Given the description of an element on the screen output the (x, y) to click on. 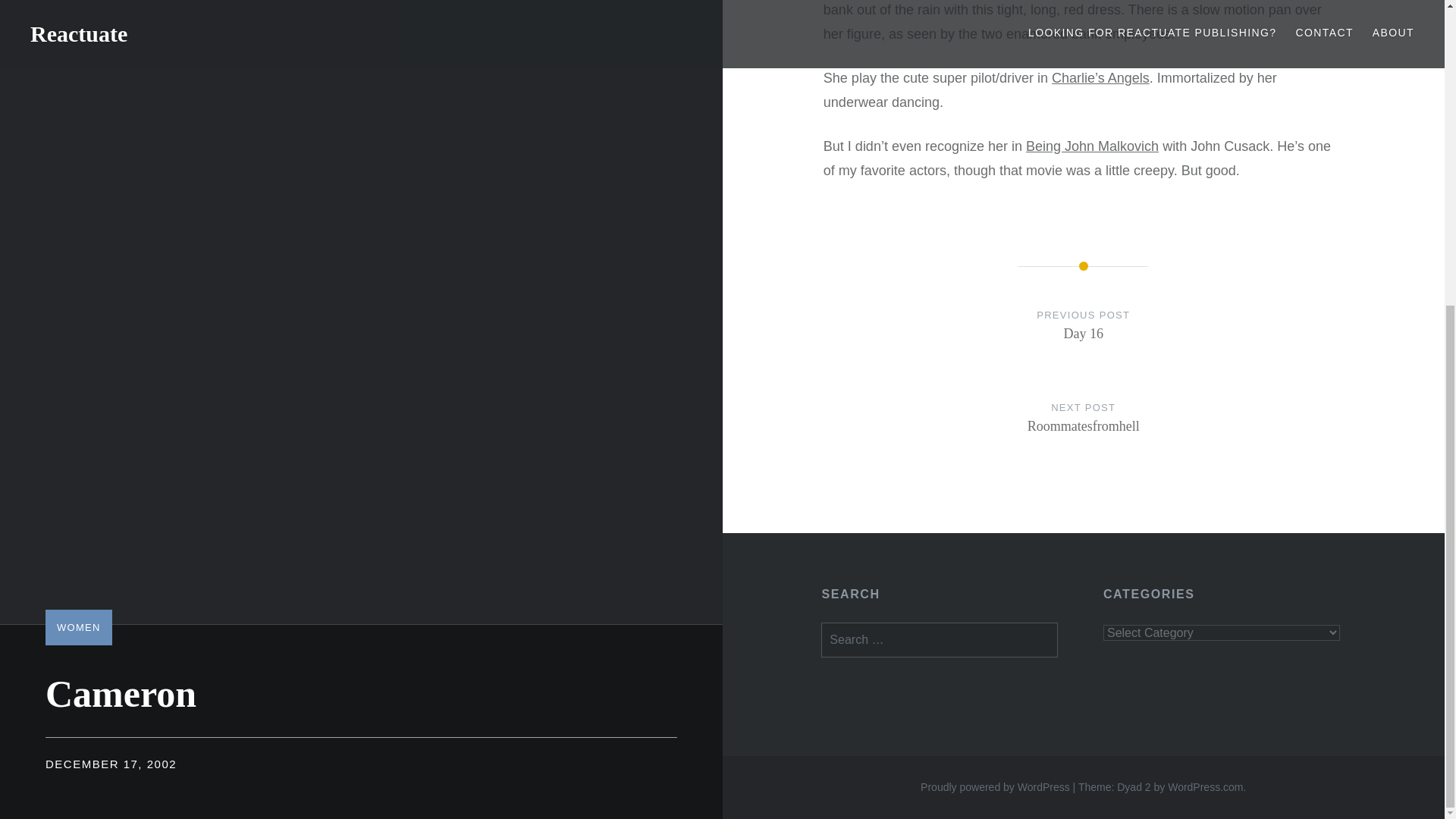
Proudly powered by WordPress (995, 787)
WordPress.com (1205, 787)
WOMEN (78, 147)
Being John Malkovich (1083, 339)
DECEMBER 17, 2002 (1083, 432)
